Given the description of an element on the screen output the (x, y) to click on. 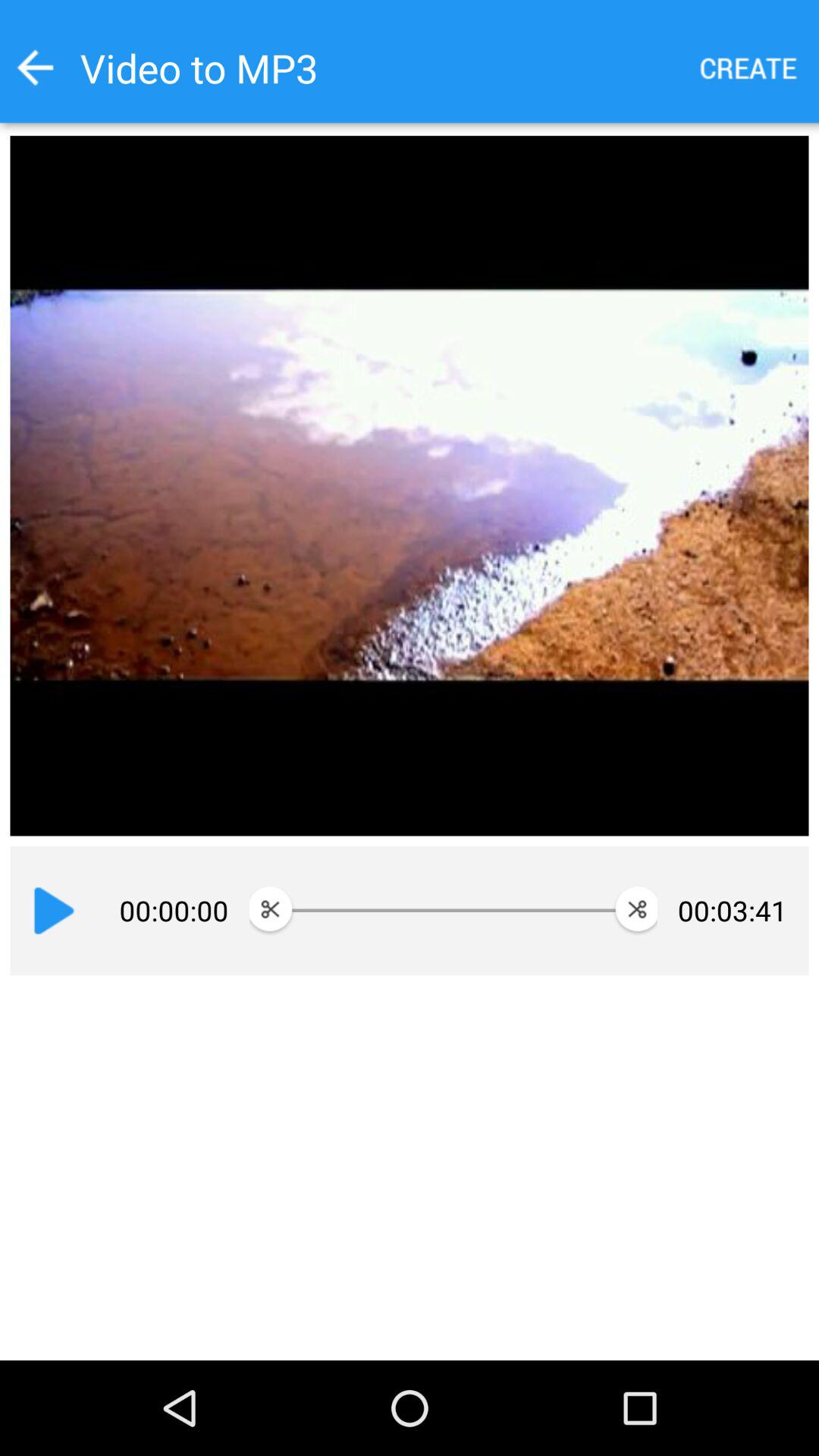
click the button at the top right corner (749, 67)
